Given the description of an element on the screen output the (x, y) to click on. 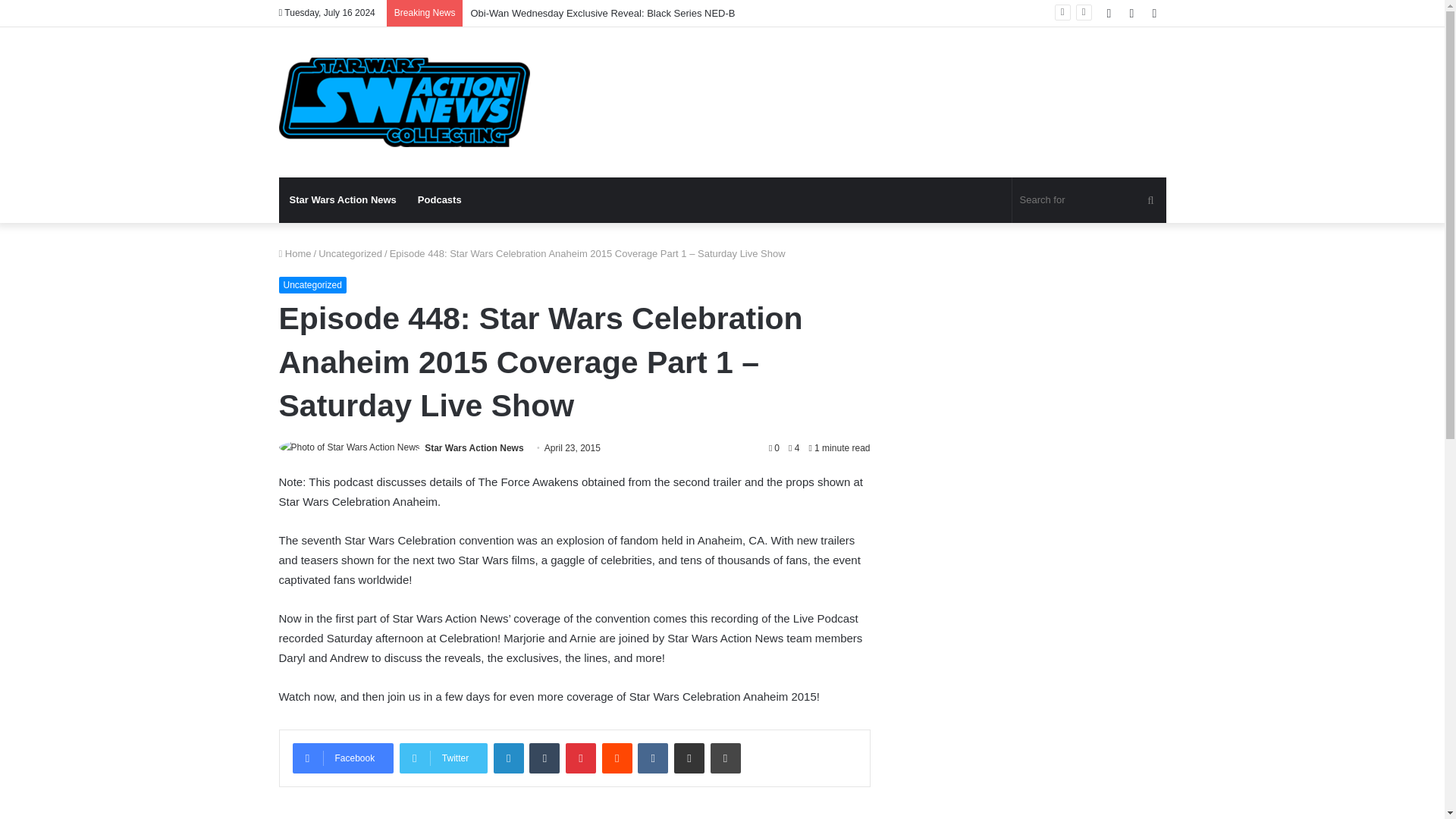
Pinterest (580, 757)
LinkedIn (508, 757)
Twitter (442, 757)
Home (295, 253)
Uncategorized (312, 284)
Podcasts (439, 199)
VKontakte (652, 757)
Reddit (616, 757)
Facebook (343, 757)
Star Wars Action News (473, 448)
Tumblr (544, 757)
Facebook (343, 757)
Star Wars Action News (404, 102)
Print (725, 757)
Twitter (442, 757)
